Given the description of an element on the screen output the (x, y) to click on. 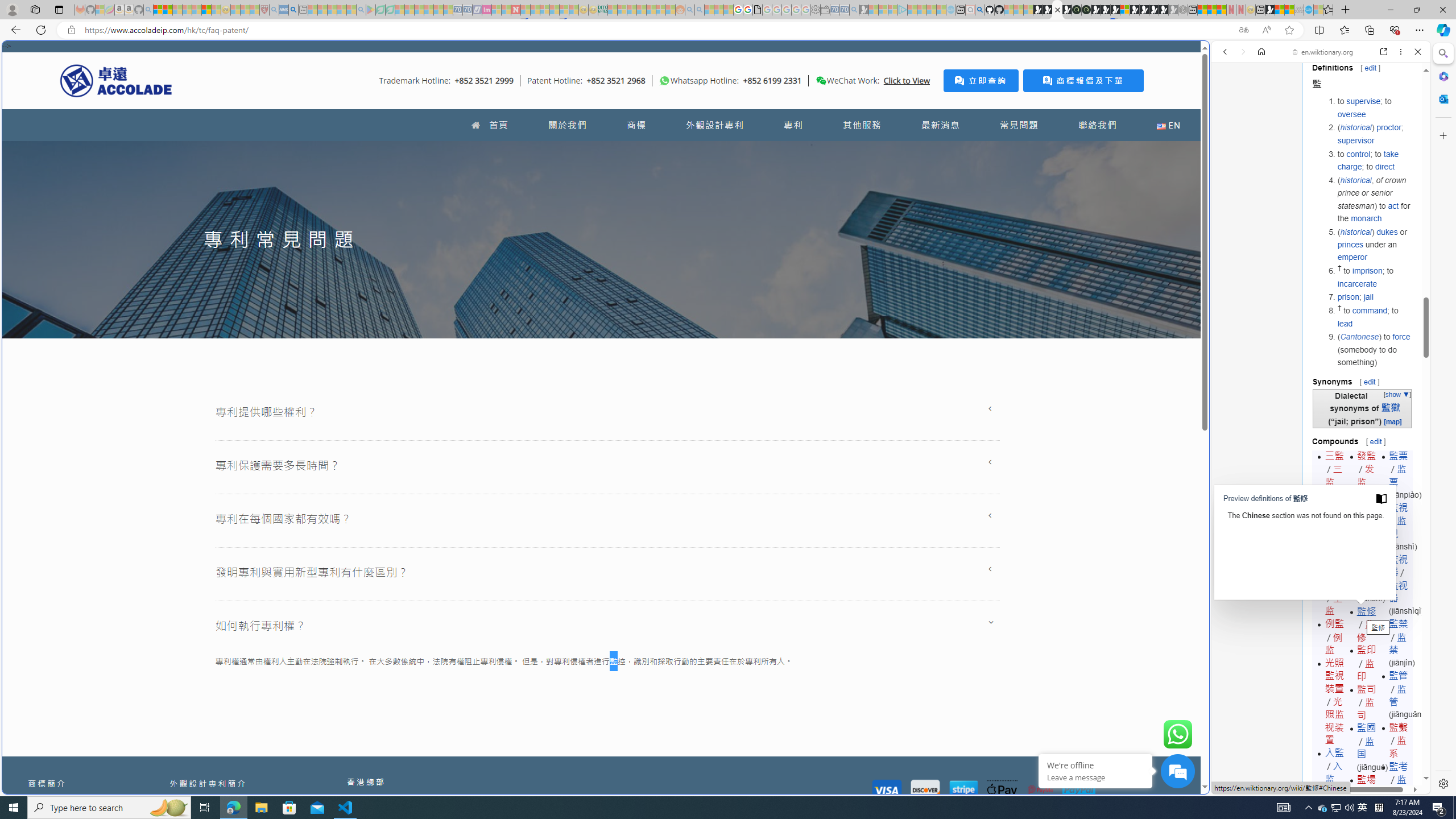
Cheap Hotels - Save70.com - Sleeping (467, 9)
Settings - Sleeping (815, 9)
Preferences (1403, 129)
New Report Confirms 2023 Was Record Hot | Watch - Sleeping (196, 9)
Services - Maintenance | Sky Blue Bikes - Sky Blue Bikes (1307, 9)
